Given the description of an element on the screen output the (x, y) to click on. 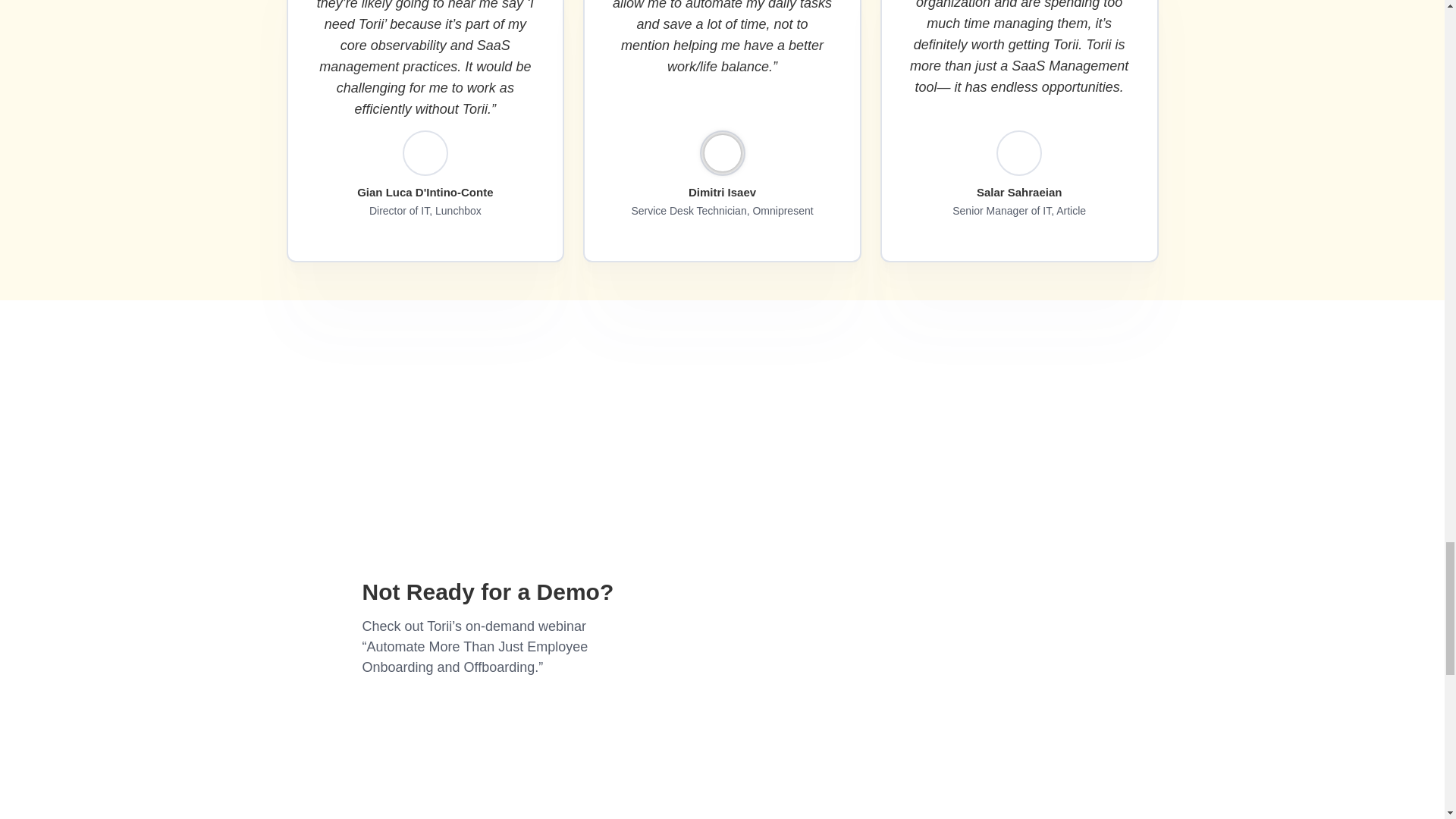
Dimitri Isaev Service Desk Technician (721, 153)
